Given the description of an element on the screen output the (x, y) to click on. 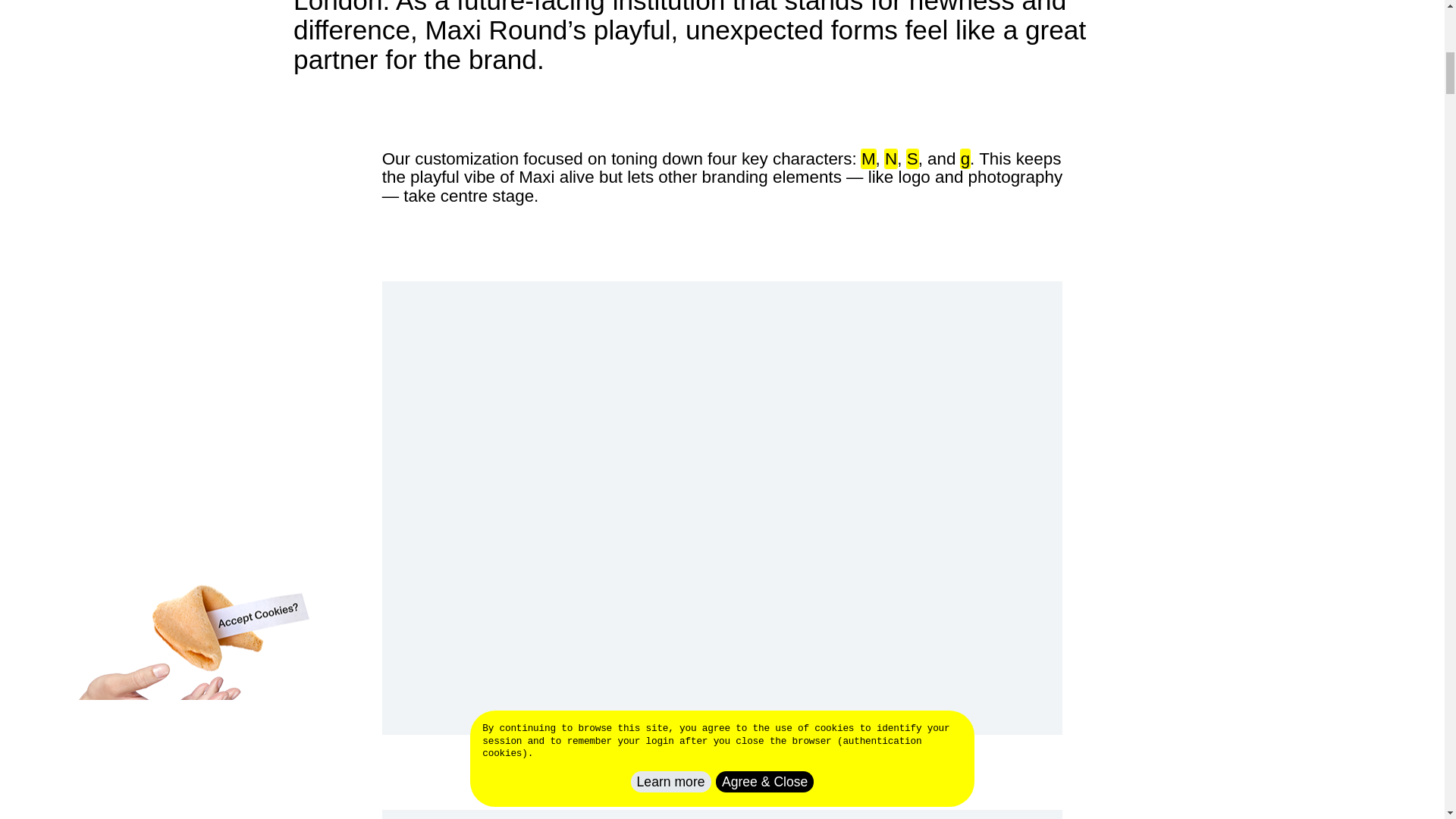
Hardware Terms (1214, 34)
Licensing Terms (1096, 34)
Contact (1004, 34)
FAQ (949, 34)
